Given the description of an element on the screen output the (x, y) to click on. 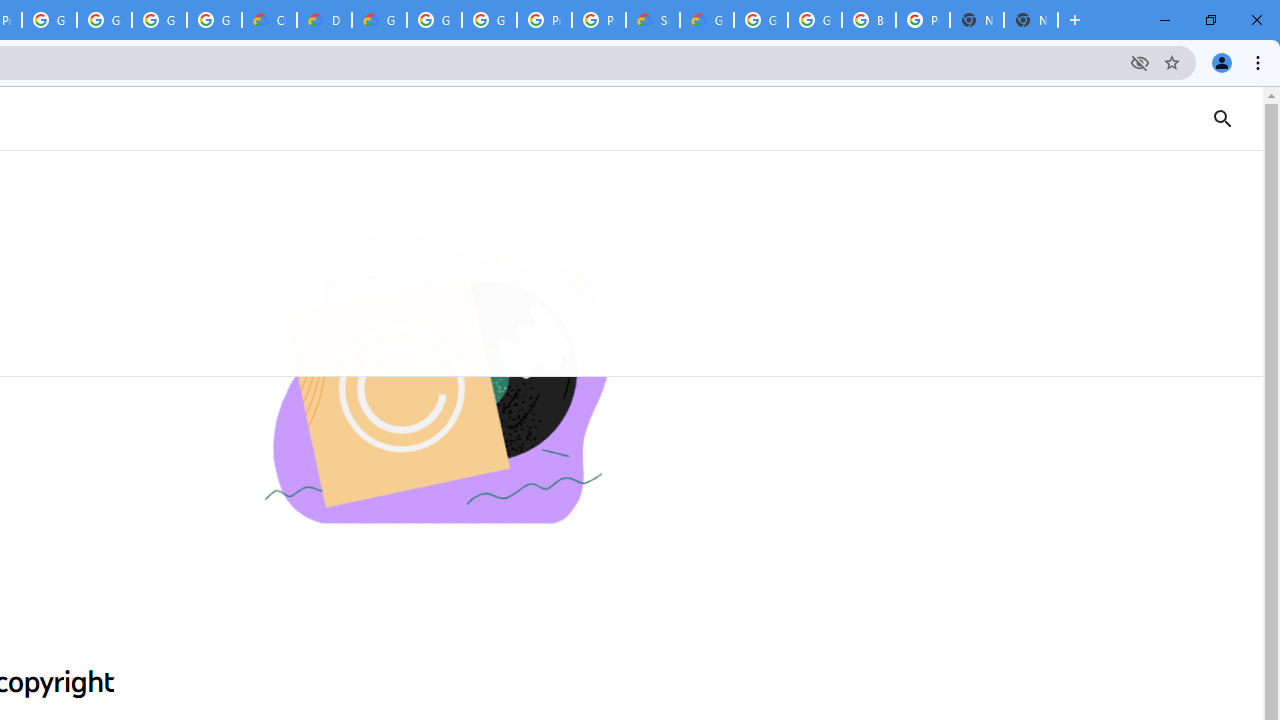
Copyright (433, 380)
Google Workspace - Specific Terms (213, 20)
Google Workspace - Specific Terms (158, 20)
Google Cloud Service Health (706, 20)
Gemini for Business and Developers | Google Cloud (379, 20)
Support Hub | Google Cloud (652, 20)
Google Cloud Platform (815, 20)
